Given the description of an element on the screen output the (x, y) to click on. 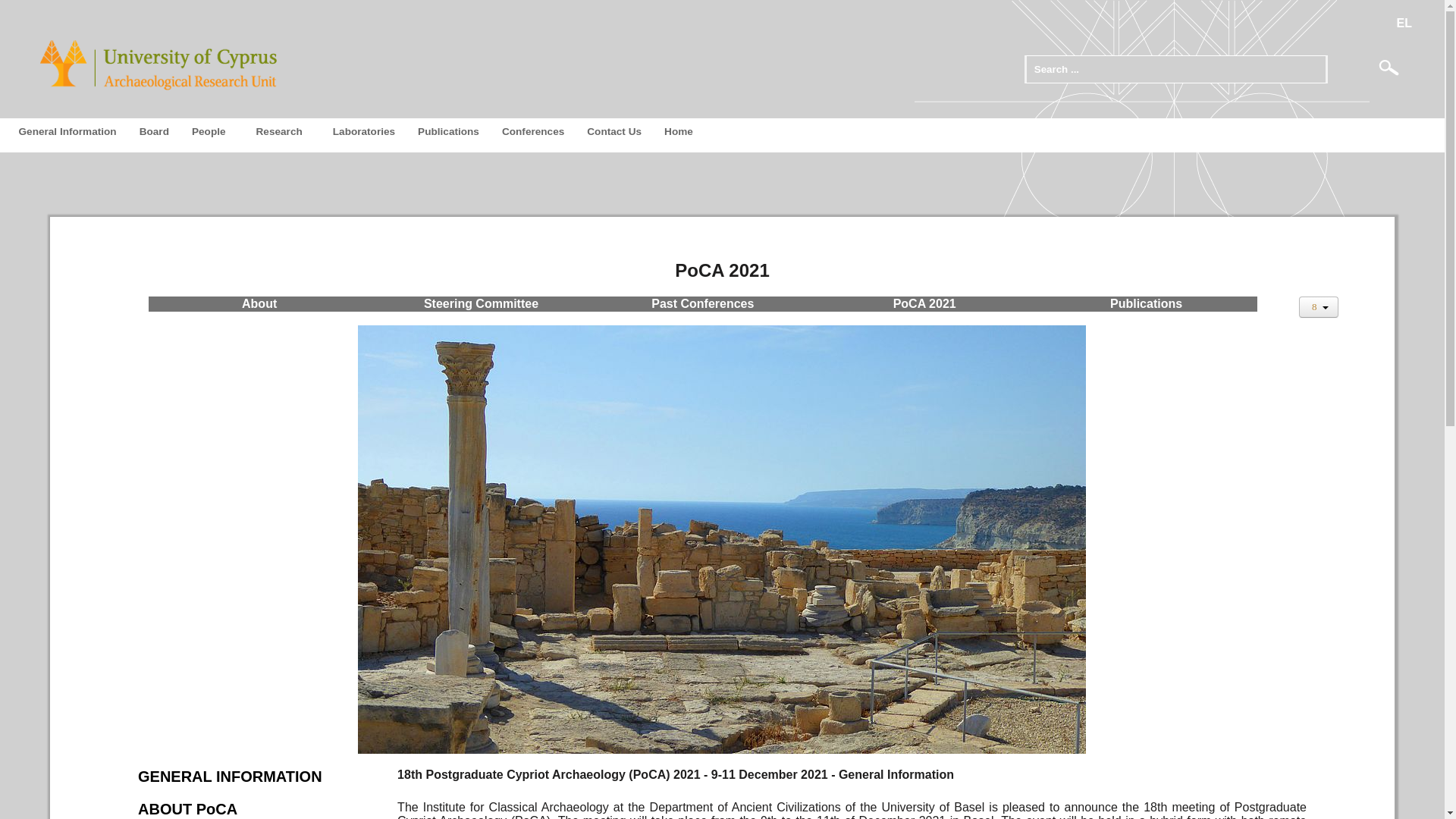
Steering Committee (480, 303)
Publications (1145, 303)
Home (678, 131)
GENERAL INFORMATION (229, 776)
People (212, 131)
Past Conferences (702, 303)
General Information (67, 131)
About (258, 303)
EL (1403, 22)
Board (154, 131)
PoCA 2021 (924, 303)
Publications (448, 131)
Conferences (532, 131)
Contact Us (613, 131)
Laboratories (363, 131)
